Given the description of an element on the screen output the (x, y) to click on. 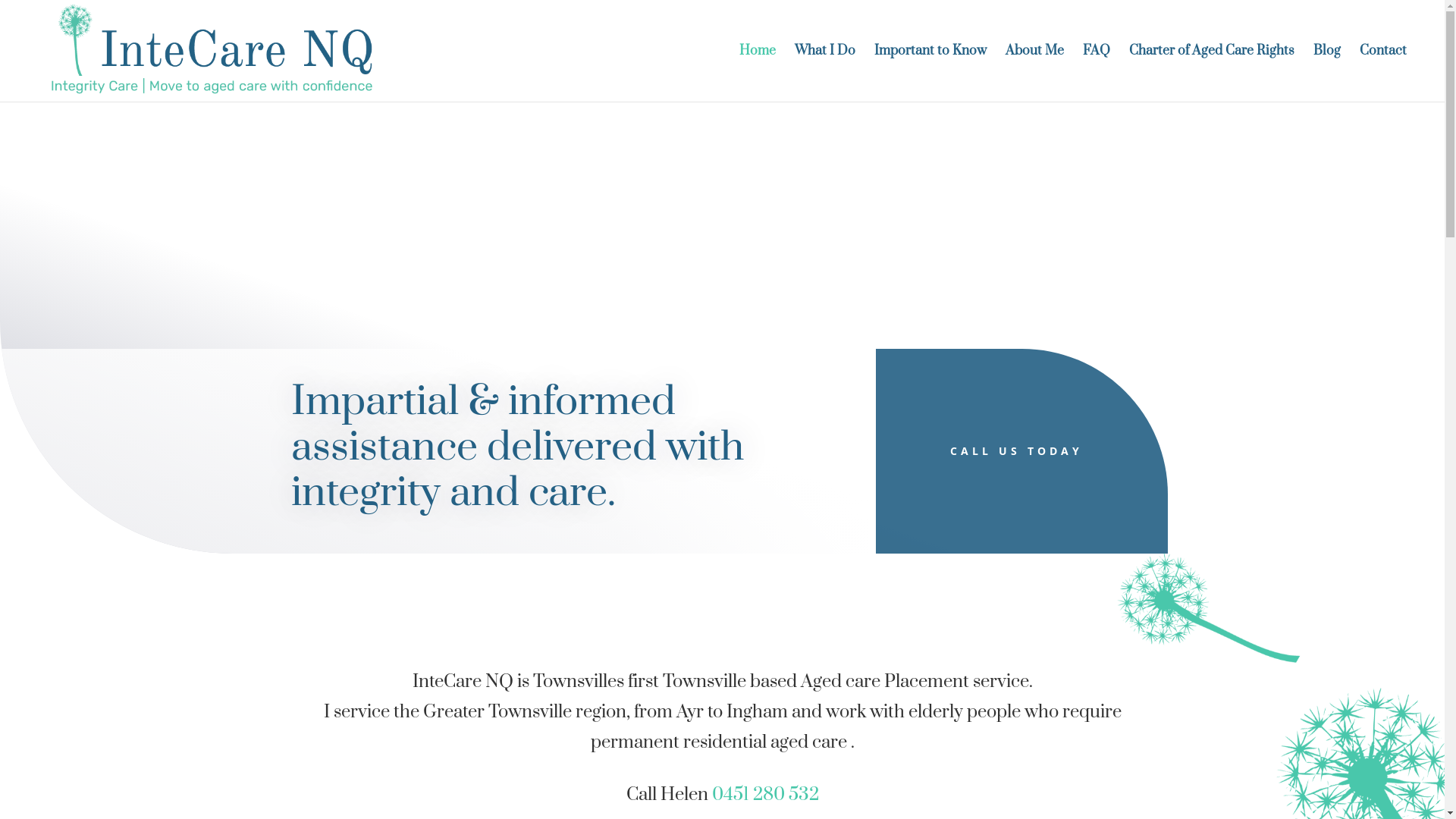
Charter of Aged Care Rights Element type: text (1211, 73)
Contact Element type: text (1382, 73)
What I Do Element type: text (824, 73)
About Me Element type: text (1034, 73)
Important to Know Element type: text (930, 73)
CALL US TODAY Element type: text (1021, 450)
Blog Element type: text (1326, 73)
FAQ Element type: text (1096, 73)
0451 280 532 Element type: text (764, 794)
Home Element type: text (757, 73)
